Given the description of an element on the screen output the (x, y) to click on. 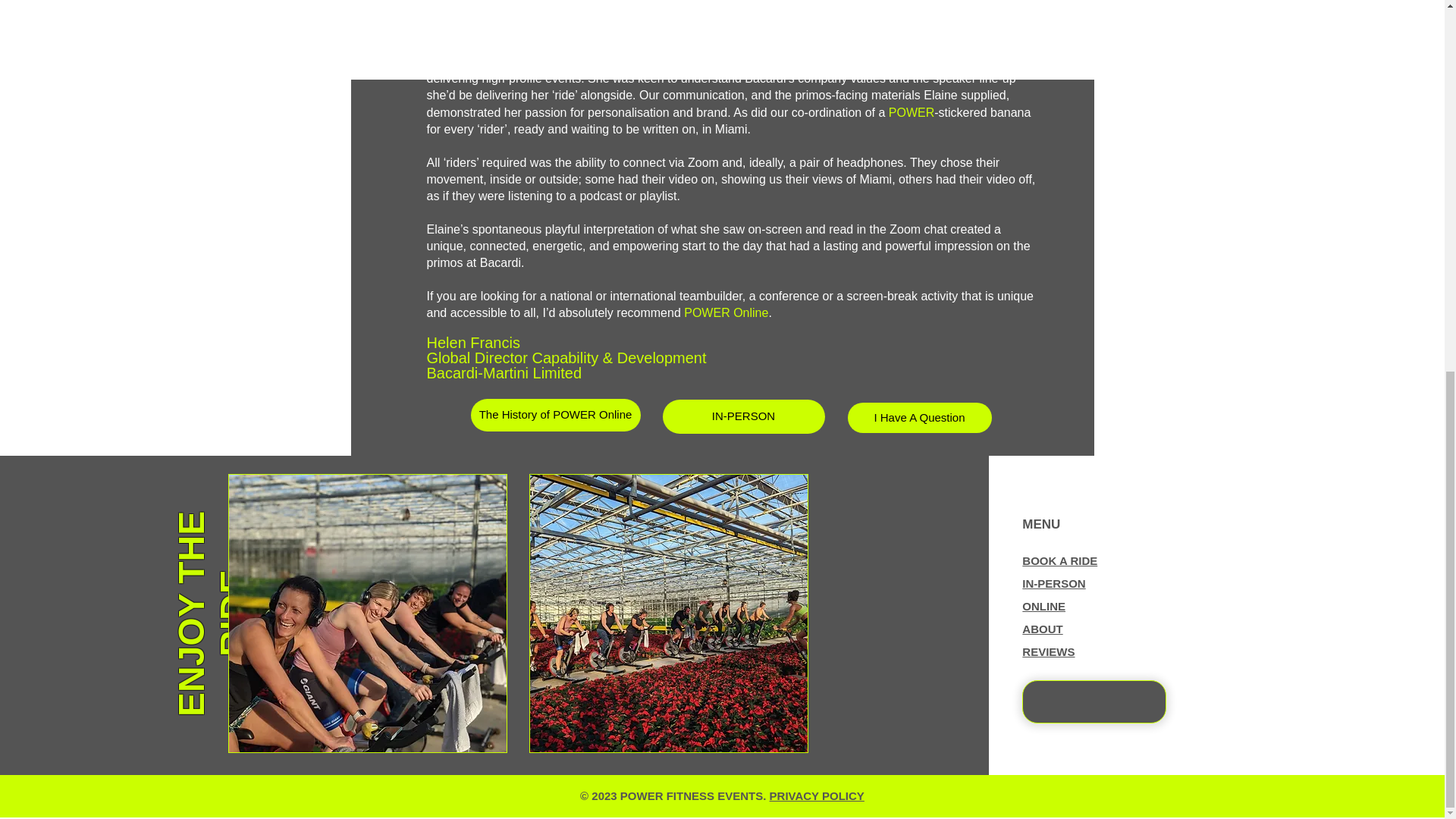
I Have A Question (919, 417)
ONLINE (1043, 606)
The History of POWER Online (555, 414)
ABOUT (1042, 629)
REVIEWS (1048, 652)
IN-PERSON (743, 416)
BOOK A RIDE (1059, 560)
IN-PERSON (1053, 583)
